Given the description of an element on the screen output the (x, y) to click on. 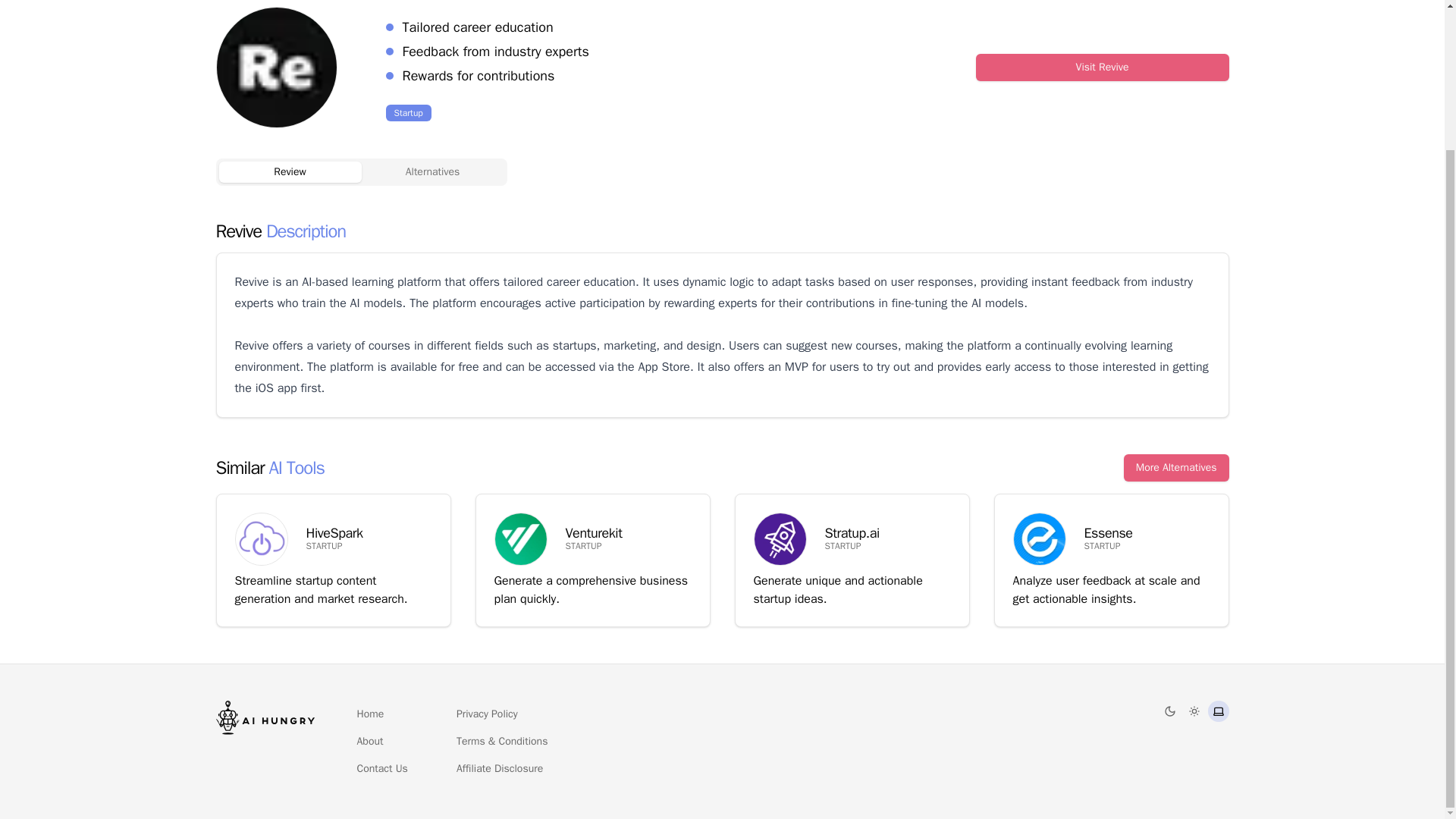
Alternatives (432, 171)
light (1193, 711)
Review (289, 171)
Startup (407, 112)
About (369, 741)
Affiliate Disclosure (498, 768)
dark (1168, 711)
Visit Revive (1101, 67)
Home (370, 714)
system (1217, 711)
More Alternatives (1176, 467)
